Given the description of an element on the screen output the (x, y) to click on. 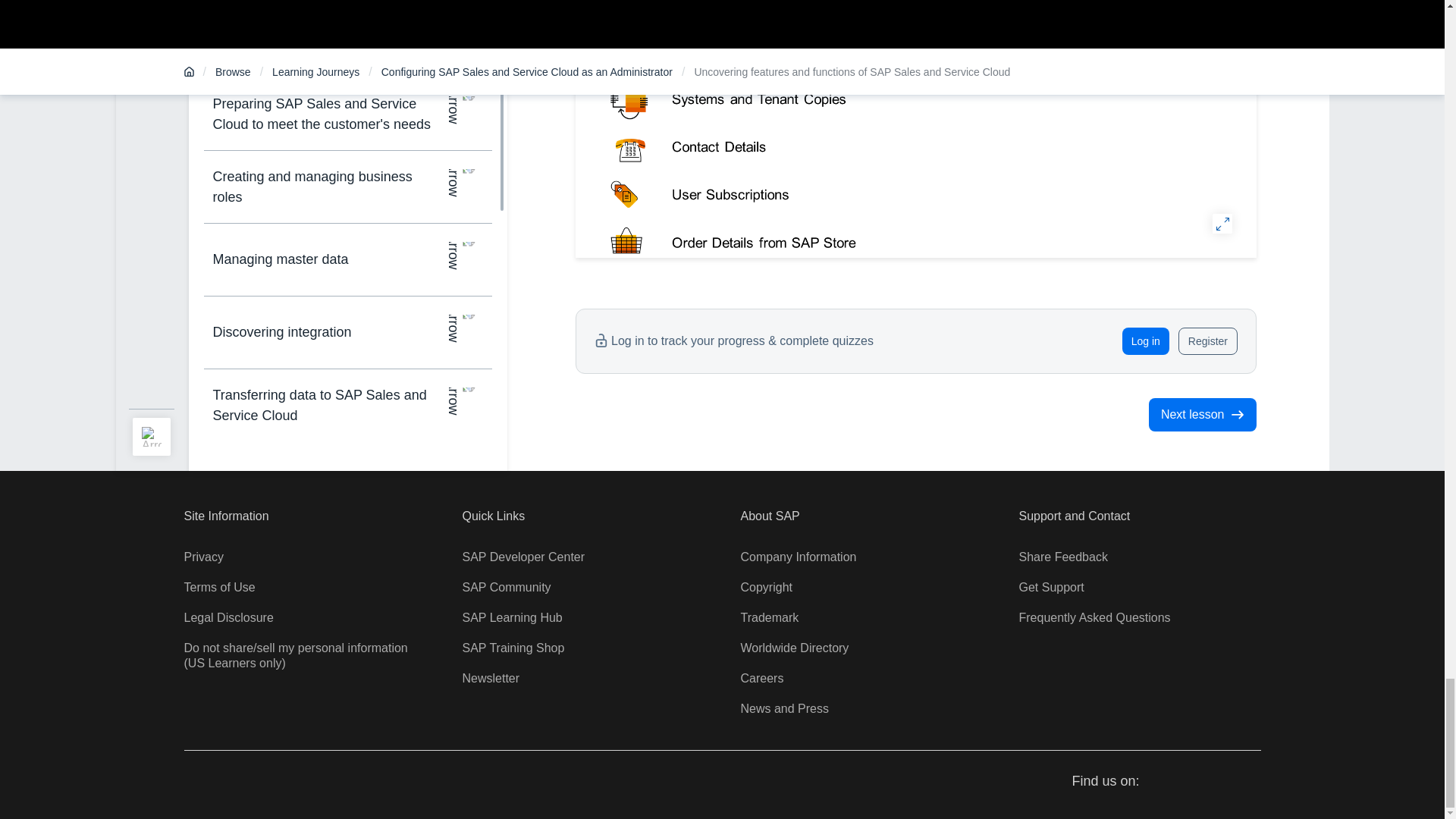
SAP LinkedIn (1249, 781)
SAP Developer Center (524, 556)
Next lesson (1202, 414)
Worldwide Directory (793, 647)
SAP Youtube (1220, 781)
Careers (761, 677)
SAP Facebook (1165, 781)
News and Press (783, 707)
Company Information (797, 556)
Register (1206, 340)
